Given the description of an element on the screen output the (x, y) to click on. 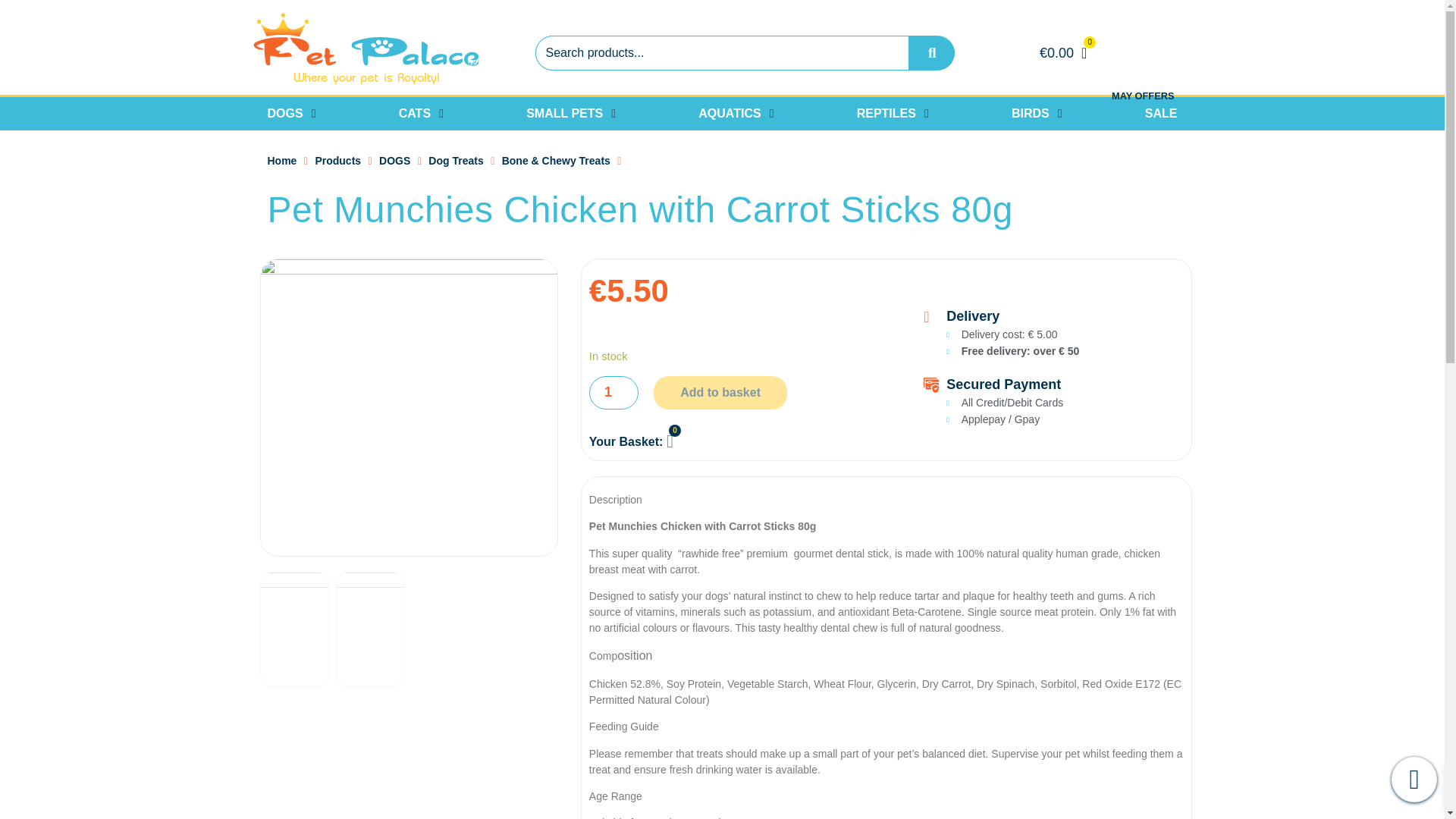
1 (614, 392)
Products (337, 160)
Home (281, 160)
DOGS (394, 160)
Dog Treats (455, 160)
1966-Chicken-With-Carrot-Sticks-80g-scaled (293, 629)
1966-Chicken-With-Carrot-Sticks-80g-scaled (408, 407)
DOGS (284, 113)
Chicken-w-Carrot-product-master (371, 629)
